Given the description of an element on the screen output the (x, y) to click on. 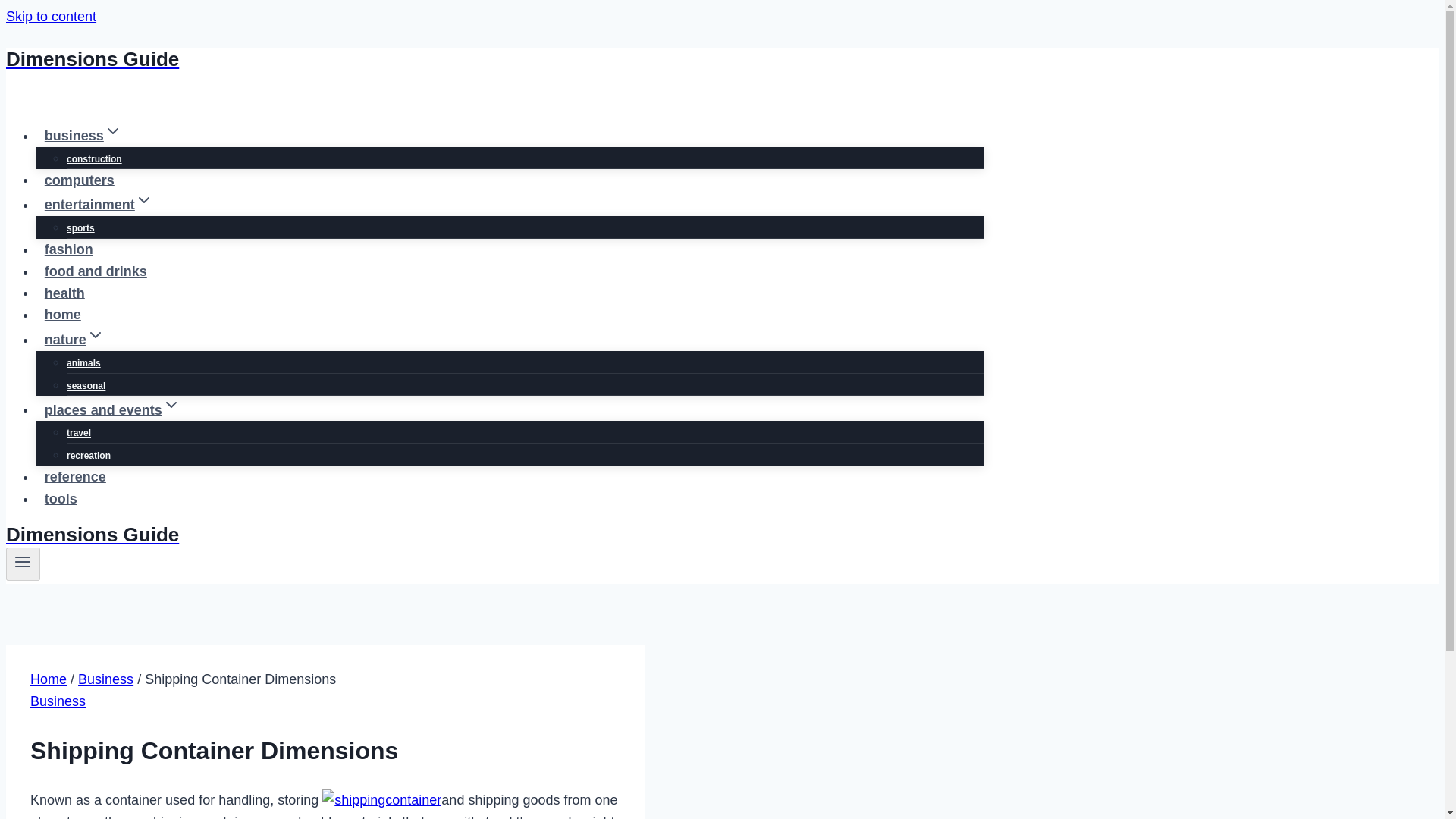
Toggle Menu (22, 563)
sports (80, 227)
expand (94, 334)
Dimensions Guide (494, 535)
Business (57, 701)
seasonal (85, 385)
shippingcontainer (381, 800)
home (62, 314)
fashion (68, 249)
Home (48, 679)
Toggle Menu (22, 561)
food and drinks (95, 271)
Dimensions Guide (494, 59)
animals (83, 362)
expand (143, 199)
